Given the description of an element on the screen output the (x, y) to click on. 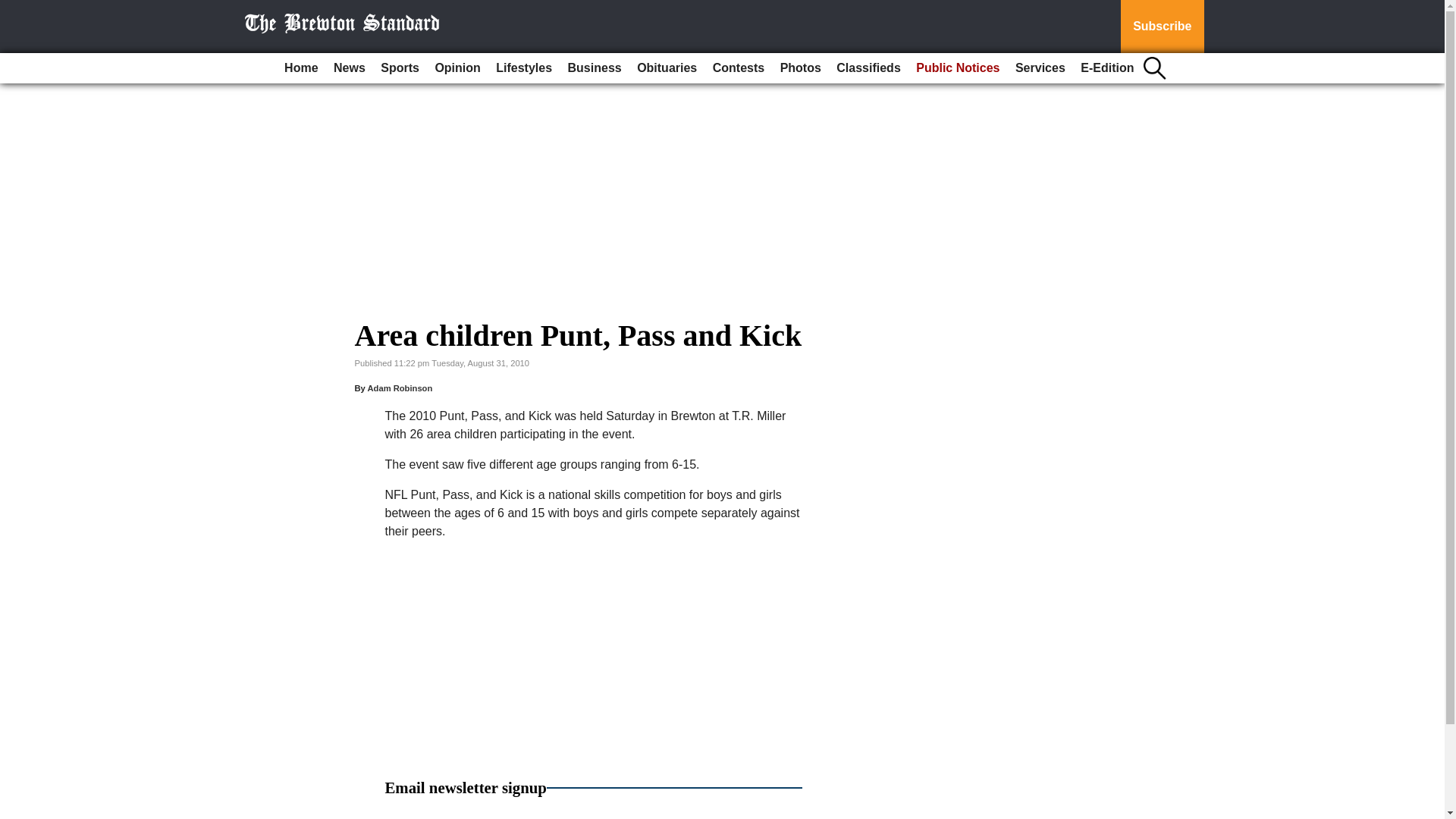
Lifestyles (523, 68)
Photos (800, 68)
Public Notices (958, 68)
News (349, 68)
Adam Robinson (399, 388)
Obituaries (666, 68)
Contests (738, 68)
Classifieds (867, 68)
Home (300, 68)
Services (1040, 68)
